Given the description of an element on the screen output the (x, y) to click on. 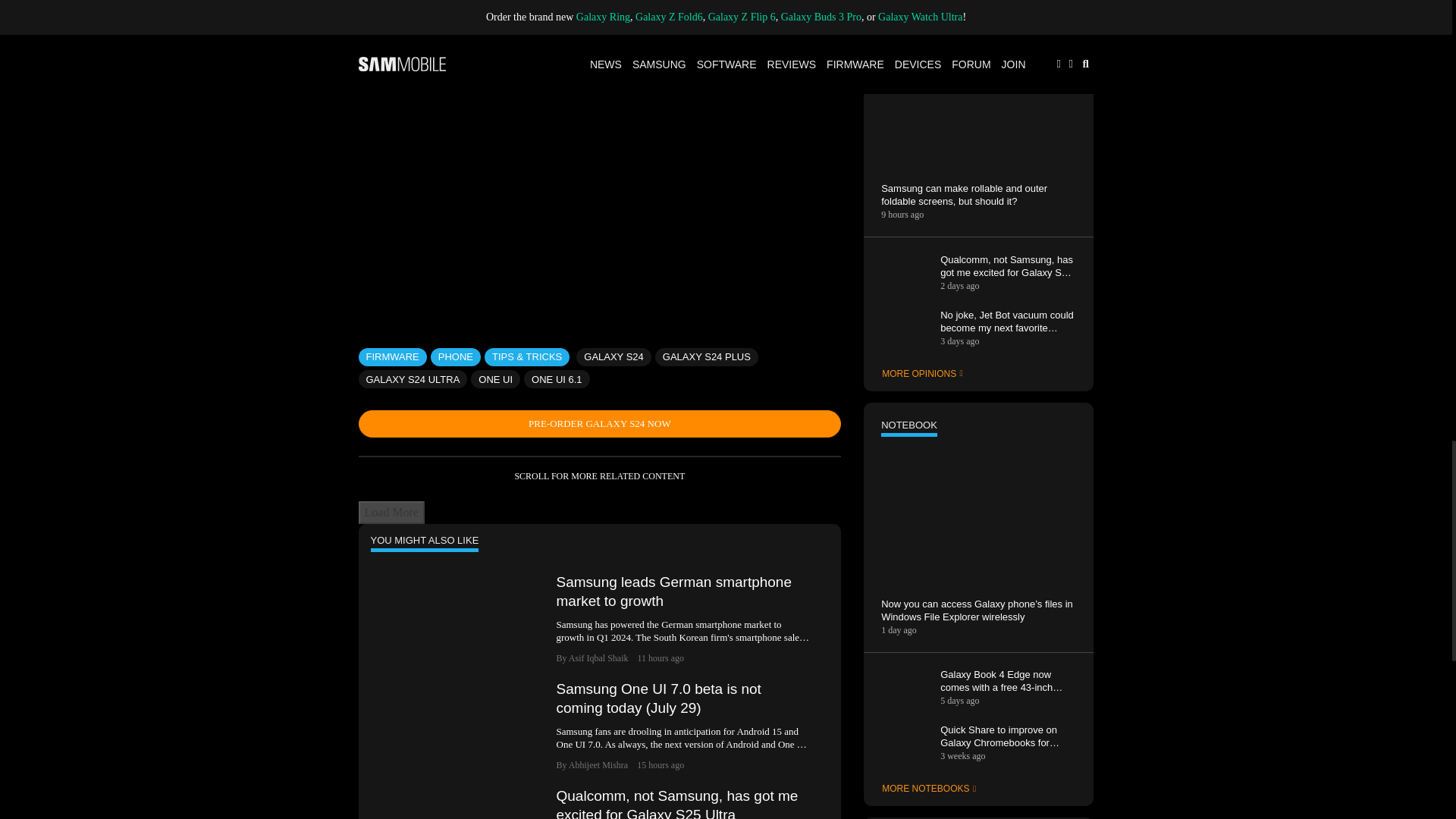
SCROLL FOR MORE RELATED CONTENT (599, 476)
